Given the description of an element on the screen output the (x, y) to click on. 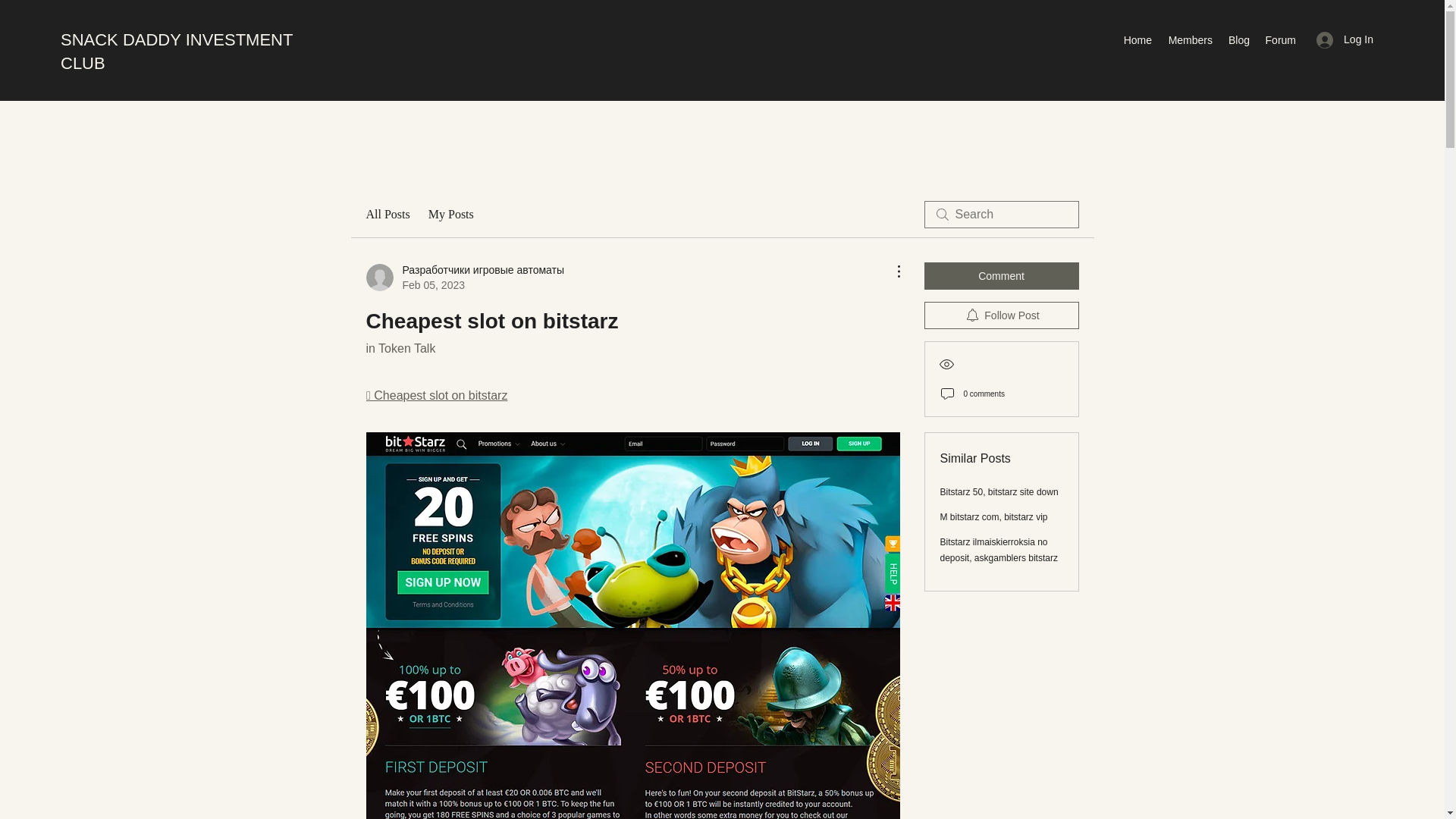
Follow Post (1000, 315)
My Posts (451, 214)
Forum (1280, 39)
SNACK DADDY INVESTMENT CLUB (176, 51)
Log In (1345, 39)
Members (1189, 39)
Bitstarz ilmaiskierroksia no deposit, askgamblers bitstarz (999, 550)
Blog (1238, 39)
M bitstarz com, bitstarz vip (994, 516)
Home (1136, 39)
